Given the description of an element on the screen output the (x, y) to click on. 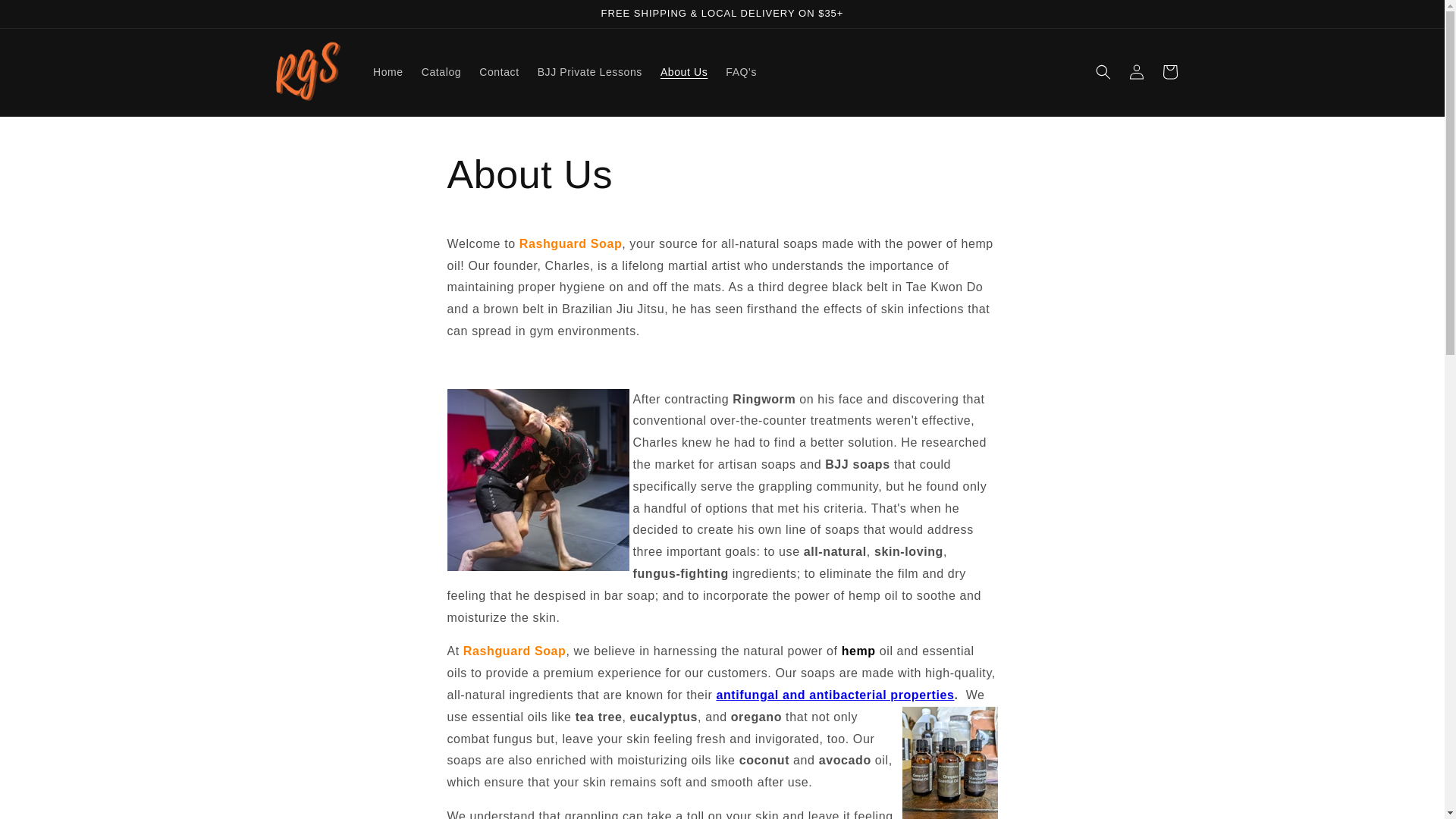
Oregano oil research (834, 694)
Cart (1169, 71)
Home (388, 71)
Contact (498, 71)
BJJ Private Lessons (589, 71)
antifungal and antibacterial properties (834, 694)
Catalog (441, 71)
Log in (1136, 71)
About Us (683, 71)
Skip to content (45, 17)
FAQ's (740, 71)
